Given the description of an element on the screen output the (x, y) to click on. 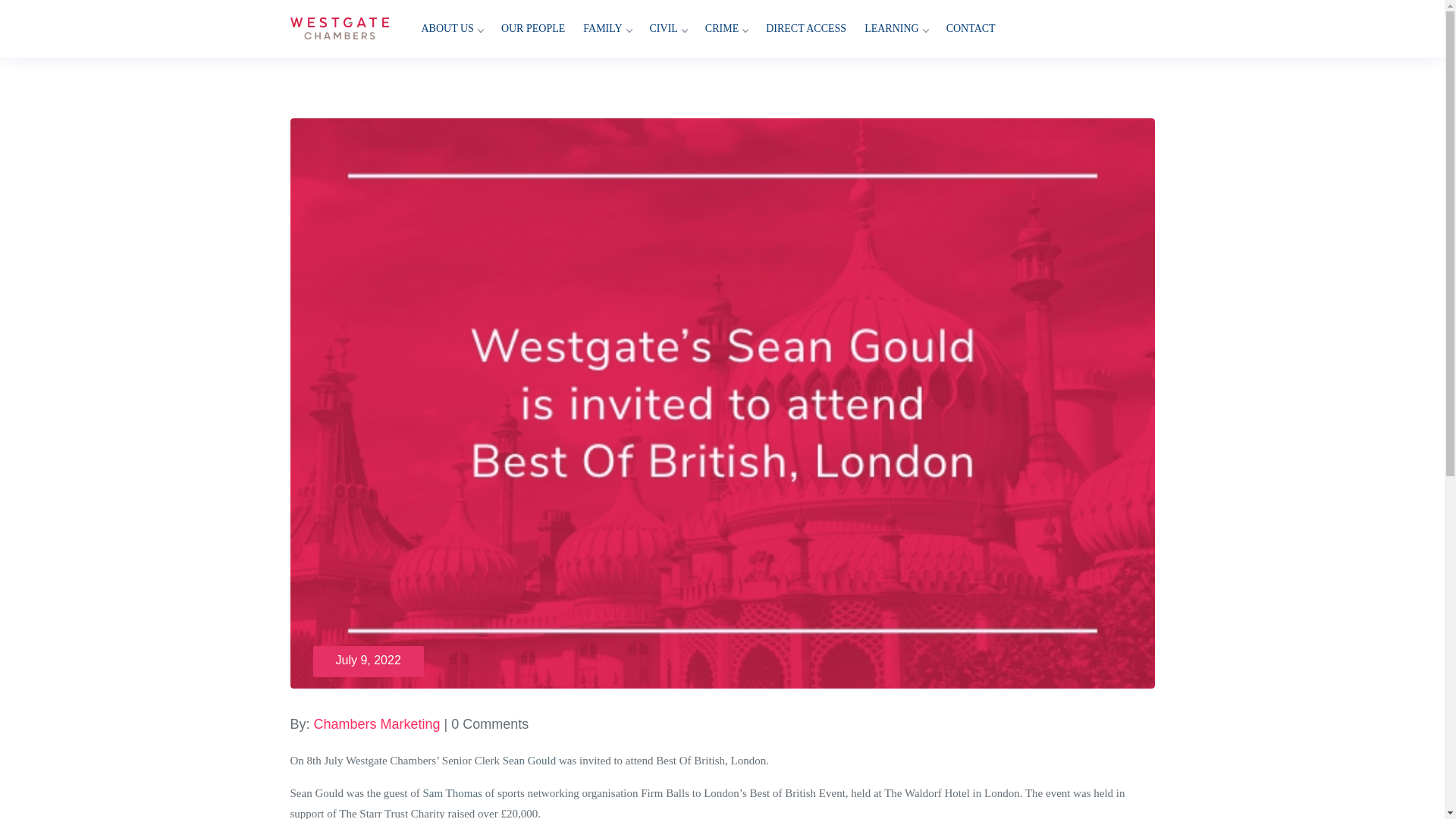
LEARNING (896, 28)
DIRECT ACCESS (806, 28)
ABOUT US (452, 28)
FAMILY (606, 28)
OUR PEOPLE (532, 28)
ABOUT US (452, 28)
OUR PEOPLE (532, 28)
CRIME (726, 28)
CIVIL (667, 28)
FAMILY (606, 28)
Westgate Chambers (338, 26)
